Given the description of an element on the screen output the (x, y) to click on. 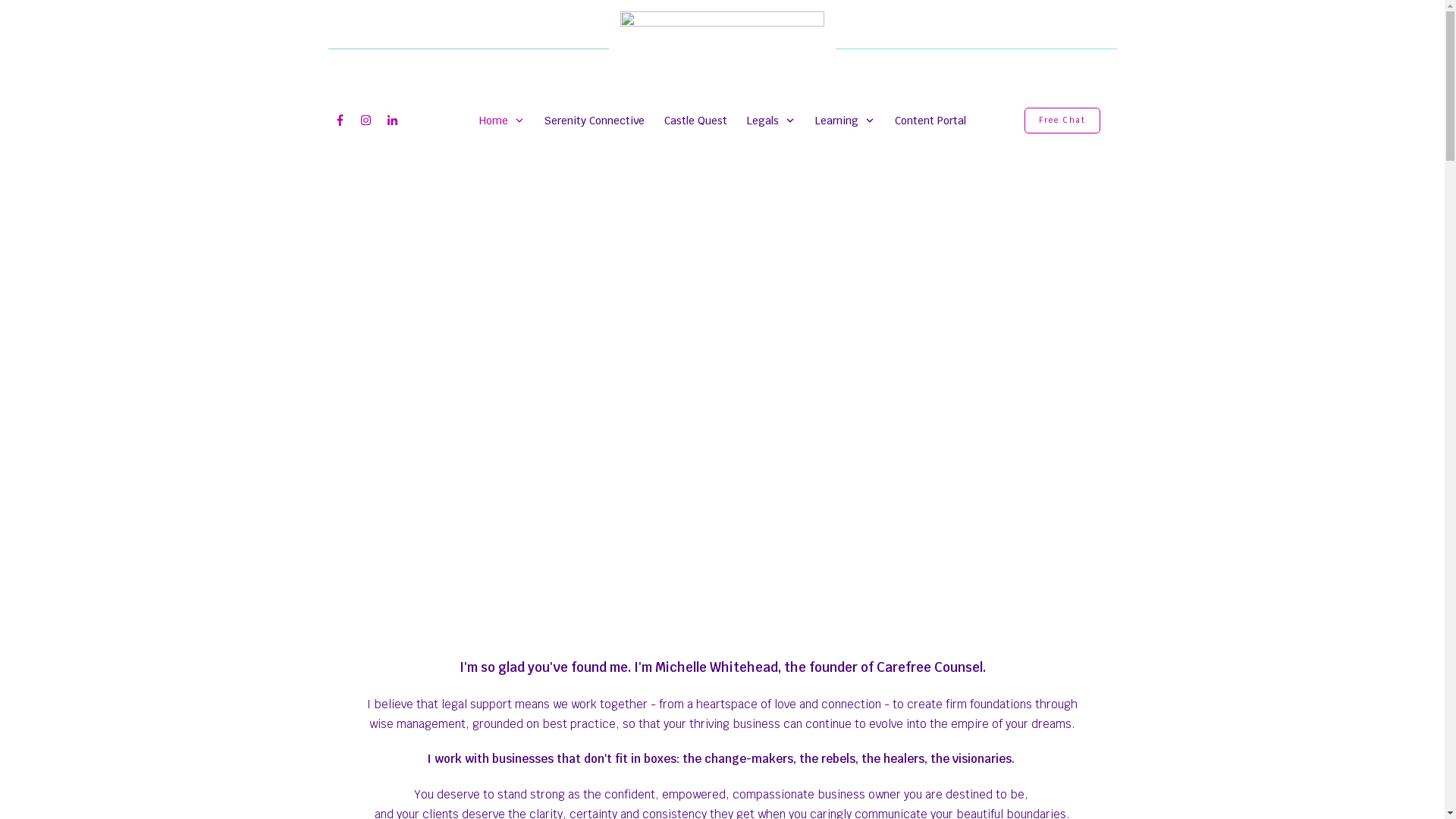
Content Portal Element type: text (930, 120)
Castle Quest Element type: text (695, 120)
Learning Element type: text (844, 120)
Home Element type: text (501, 120)
Legals Element type: text (770, 120)
Free Chat Element type: text (1062, 120)
Serenity Connective Element type: text (594, 120)
